Given the description of an element on the screen output the (x, y) to click on. 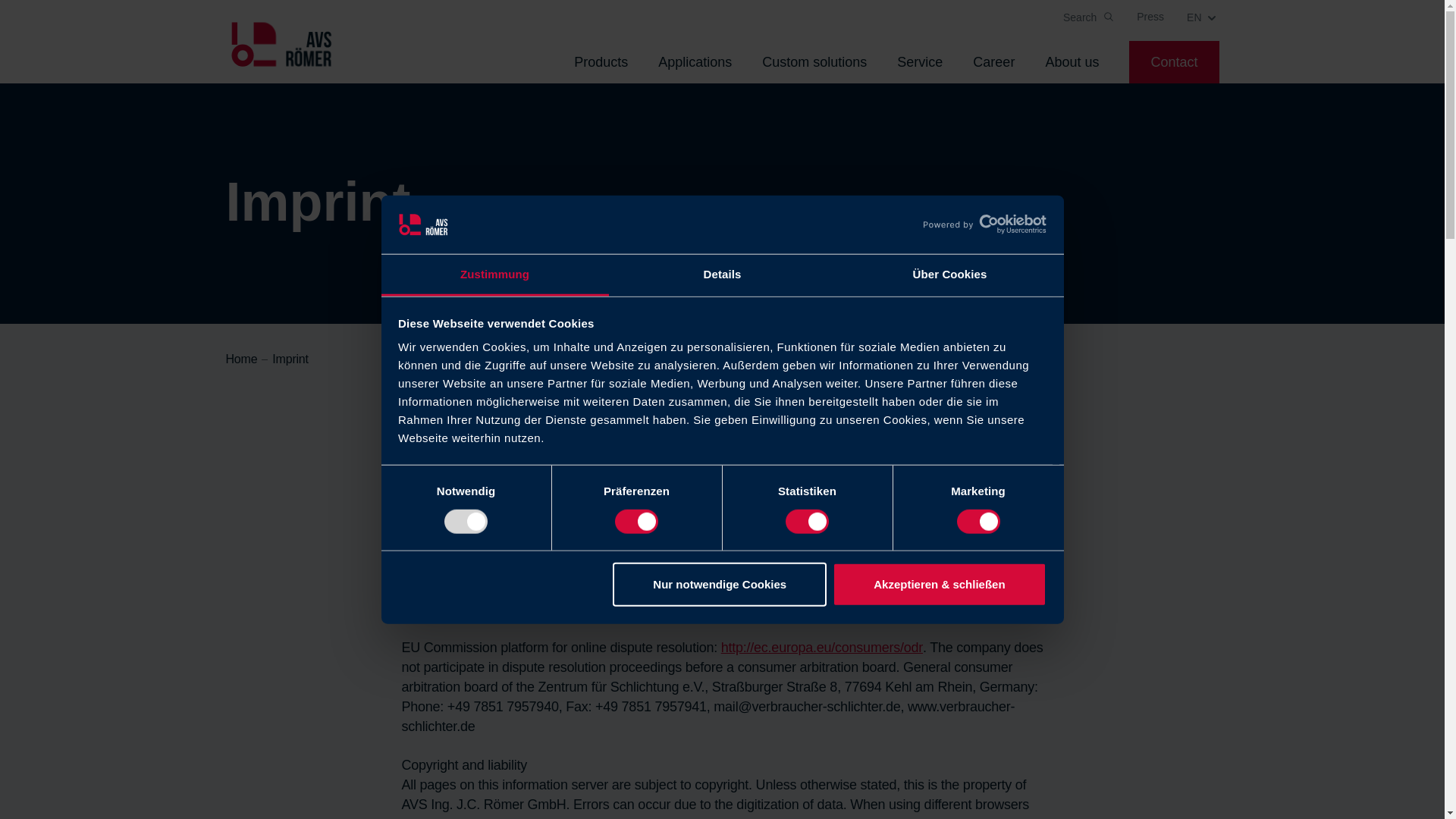
Nur notwendige Cookies (719, 584)
Products (600, 61)
Press (1150, 16)
Details (721, 275)
Go to the startpage (280, 47)
Applications (695, 61)
Open Search (1087, 17)
Zustimmung (494, 275)
